Given the description of an element on the screen output the (x, y) to click on. 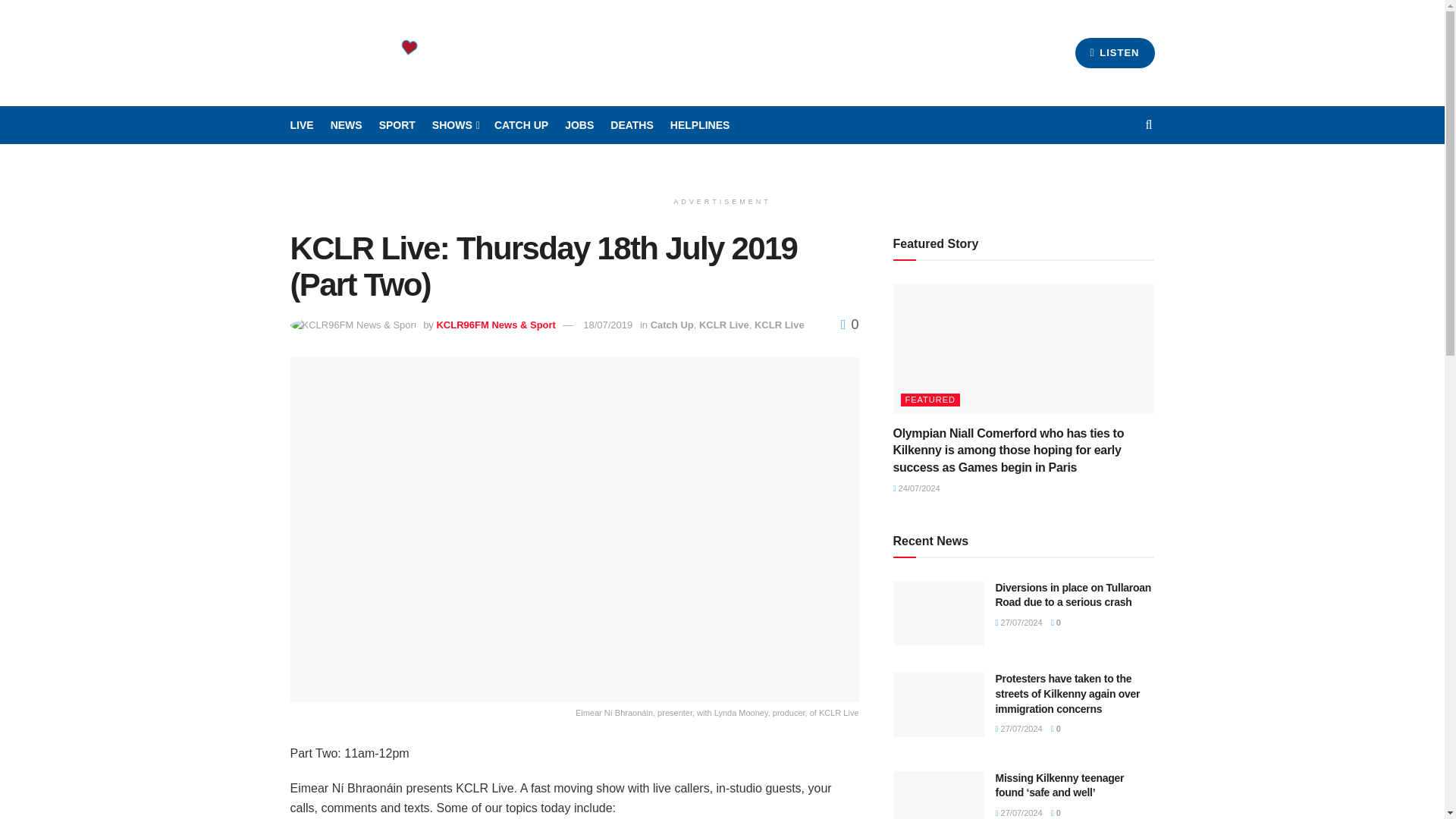
SPORT (396, 125)
Listen back to KCLR shows (521, 125)
DEATHS (631, 125)
JOBS (579, 125)
LISTEN (1114, 52)
Carlow and Kilkenny Death Notices (631, 125)
SHOWS (454, 125)
KCLR Sport on Scoreline.ie (396, 125)
CATCH UP (521, 125)
HELPLINES (699, 125)
LIVE (301, 125)
KCLR News for Kilkenny and Carlow (346, 125)
NEWS (346, 125)
